Given the description of an element on the screen output the (x, y) to click on. 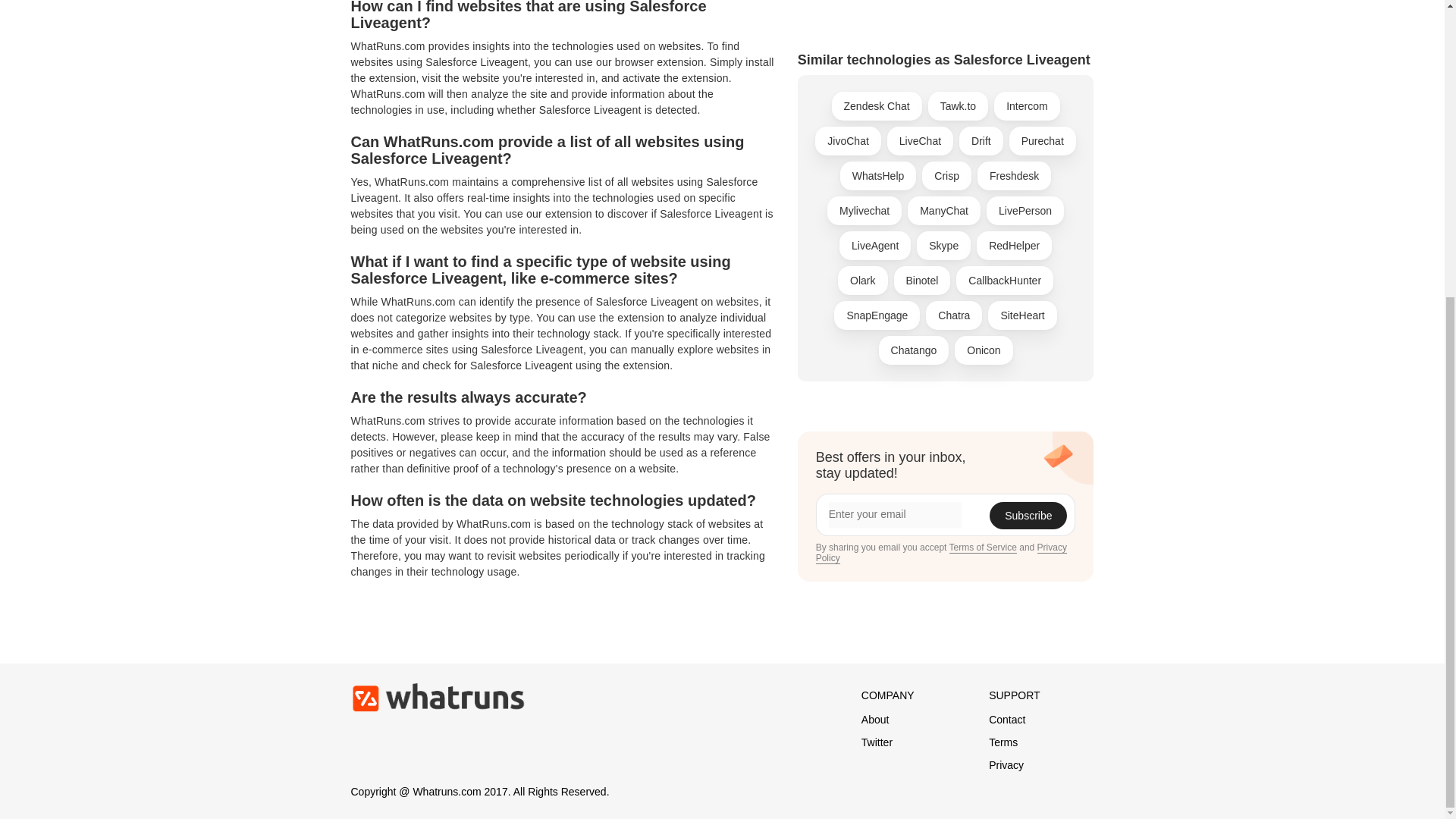
Chatango (914, 30)
Chatra (953, 5)
Subscribe (1028, 195)
About (875, 719)
Terms of Service (982, 228)
SnapEngage (877, 5)
Privacy Policy (941, 233)
Onicon (983, 30)
SiteHeart (1022, 5)
